Given the description of an element on the screen output the (x, y) to click on. 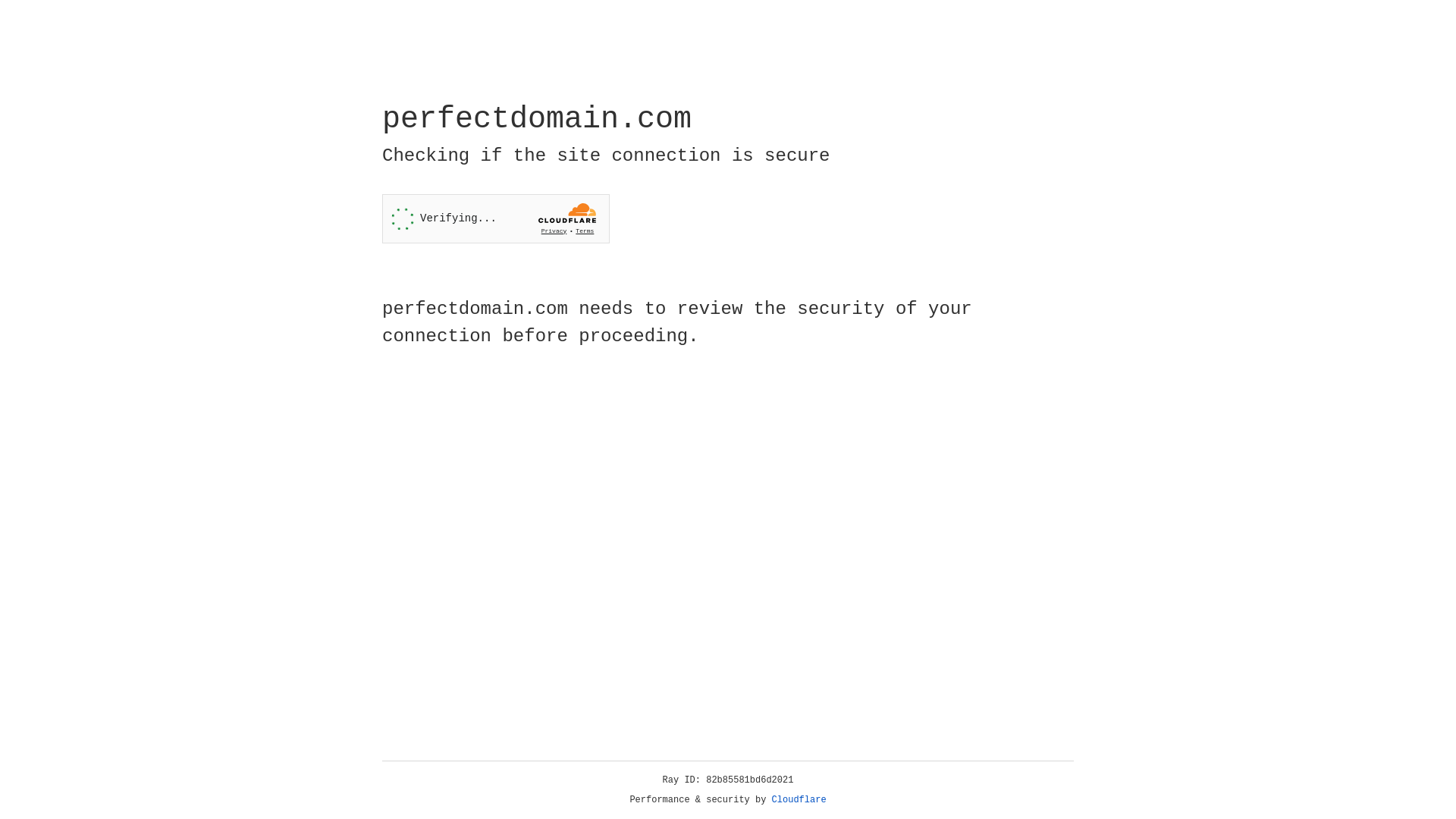
Cloudflare Element type: text (798, 799)
Widget containing a Cloudflare security challenge Element type: hover (495, 218)
